Given the description of an element on the screen output the (x, y) to click on. 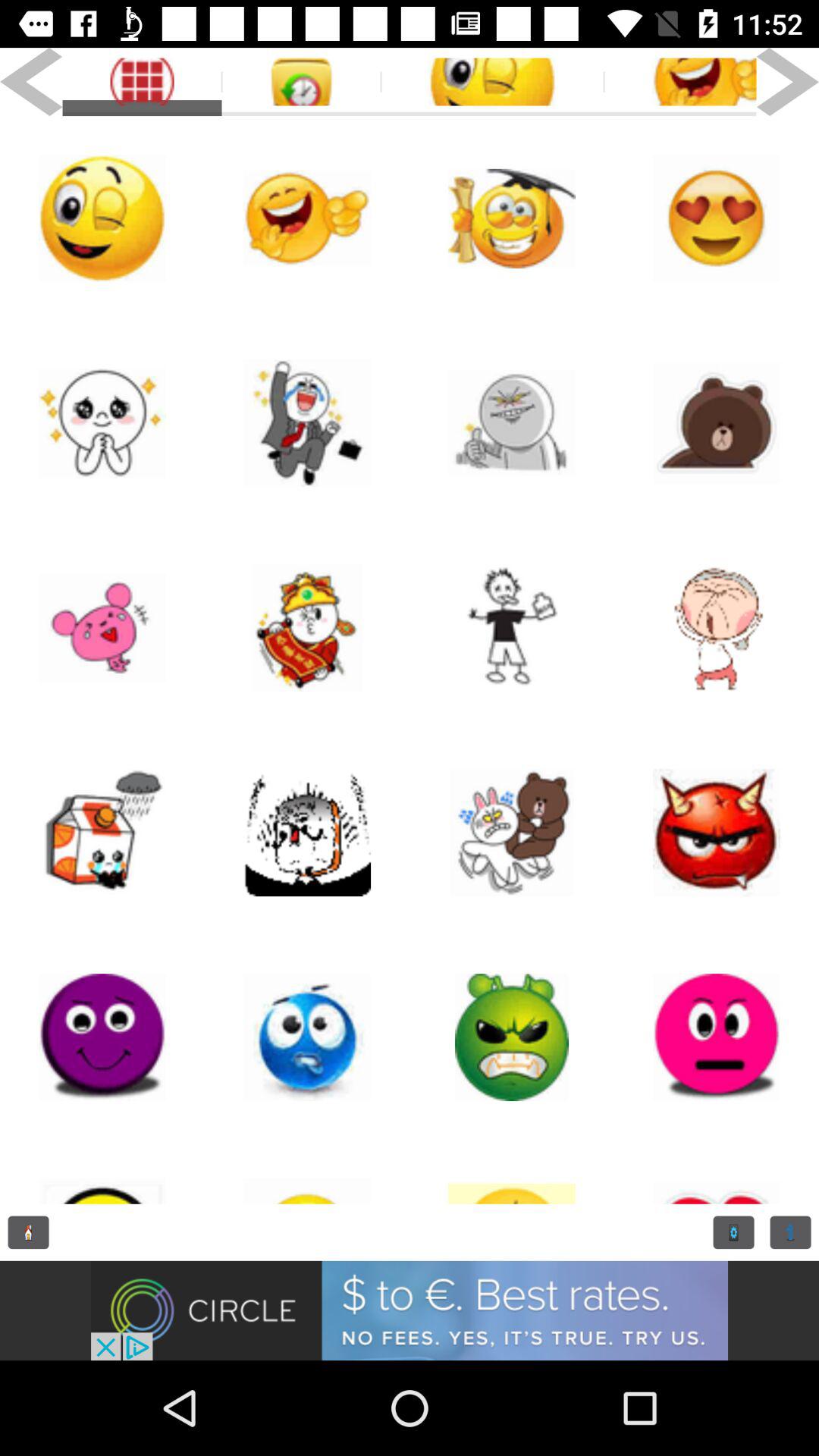
clock (28, 1232)
